Given the description of an element on the screen output the (x, y) to click on. 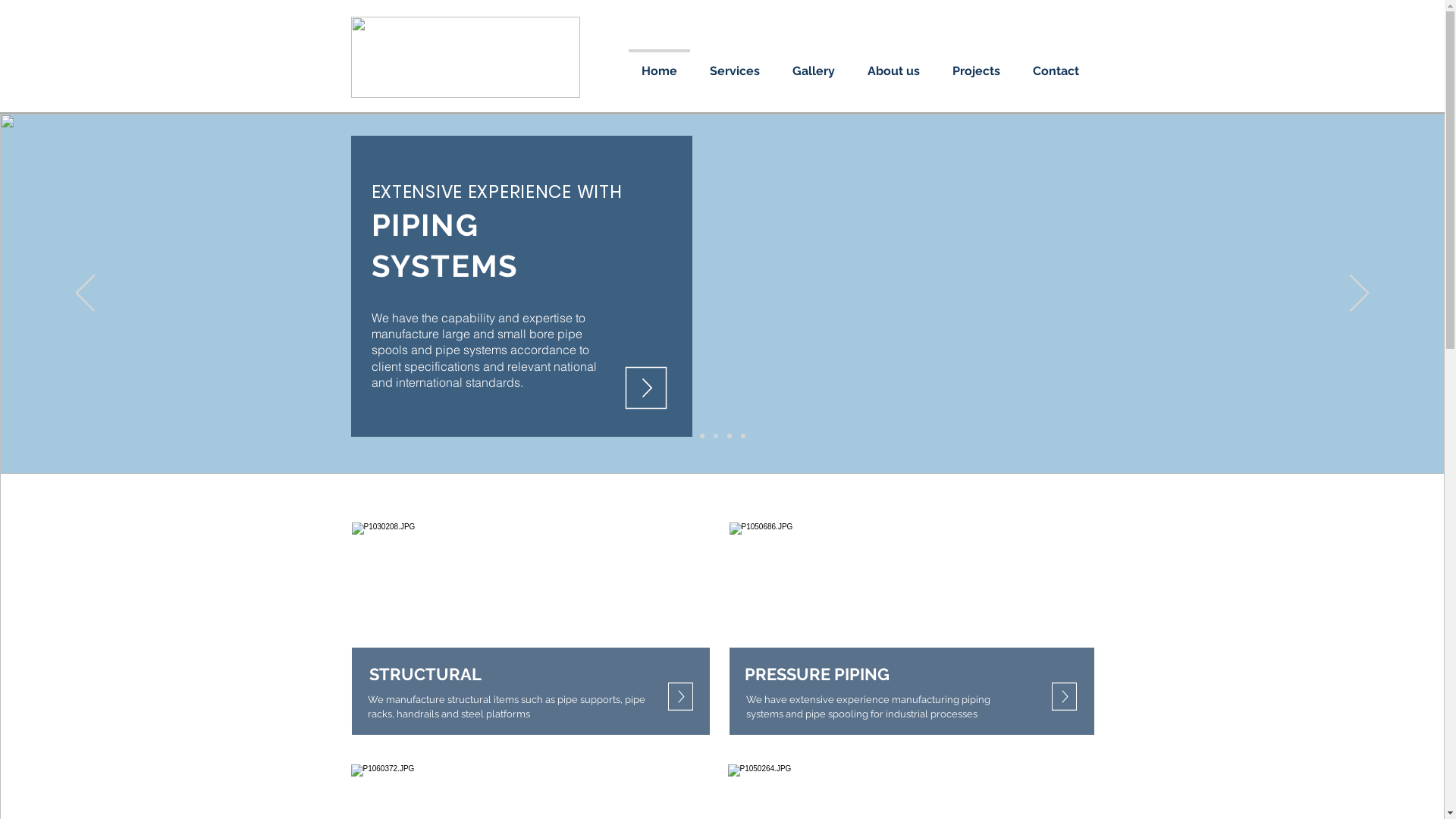
Contact Element type: text (1055, 64)
PRESSURE PIPING Element type: text (817, 673)
Services Element type: text (734, 64)
STRUCTURAL Element type: text (424, 673)
Home Element type: text (658, 64)
About us Element type: text (892, 64)
Projects Element type: text (975, 64)
SPW E-mail Banner_5.png Element type: hover (464, 56)
Gallery Element type: text (813, 64)
